Given the description of an element on the screen output the (x, y) to click on. 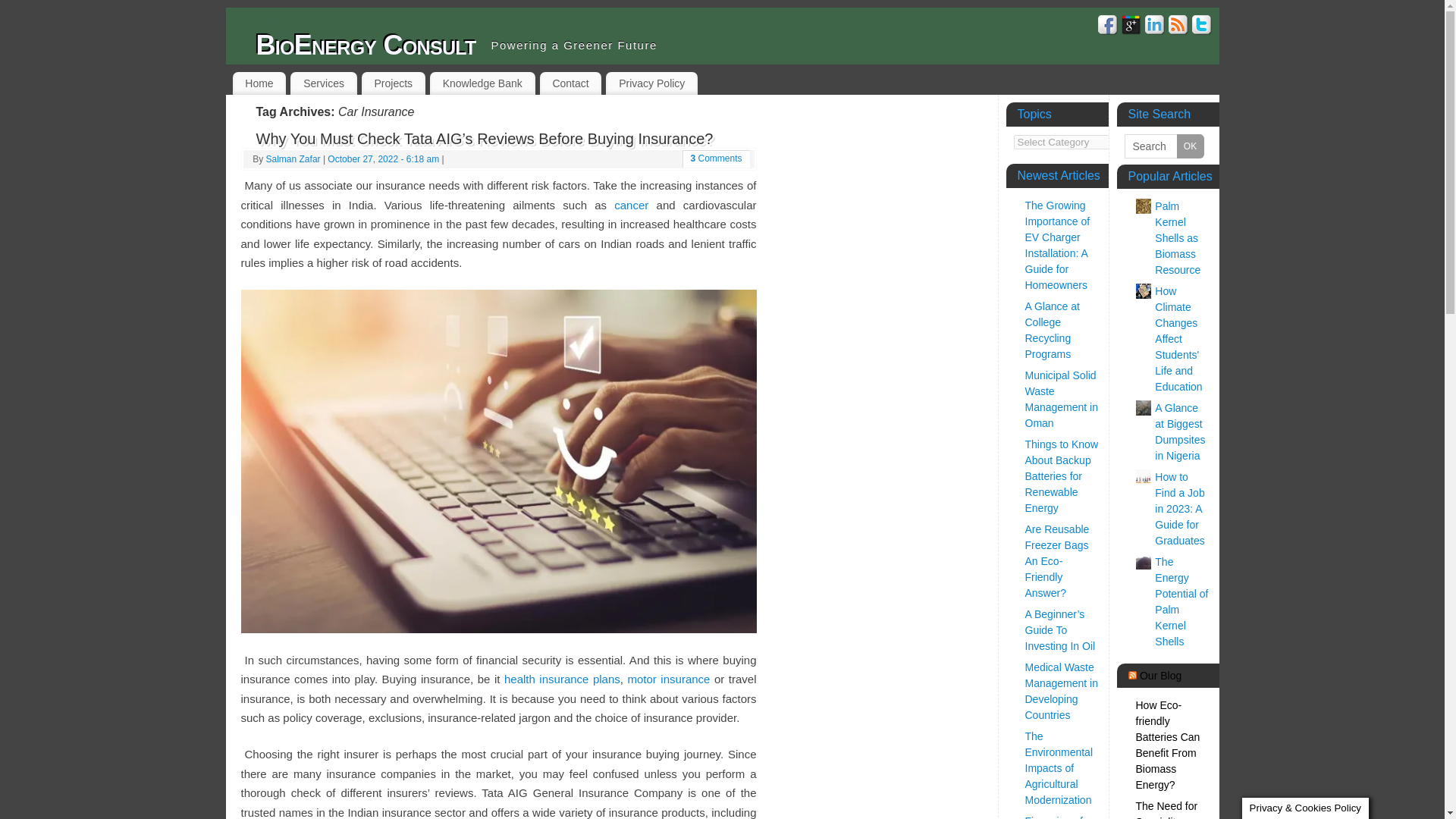
Home (258, 83)
View all posts by Salman Zafar (293, 158)
3 Comments (715, 158)
OK (1190, 146)
6:18 am (383, 158)
motor insurance (668, 678)
OK (1190, 146)
Salman Zafar (293, 158)
October 27, 2022 - 6:18 am (383, 158)
cancer (630, 205)
Knowledge Bank (482, 83)
Projects (393, 83)
health insurance plans (561, 678)
BioEnergy Consult (366, 44)
Contact (571, 83)
